Given the description of an element on the screen output the (x, y) to click on. 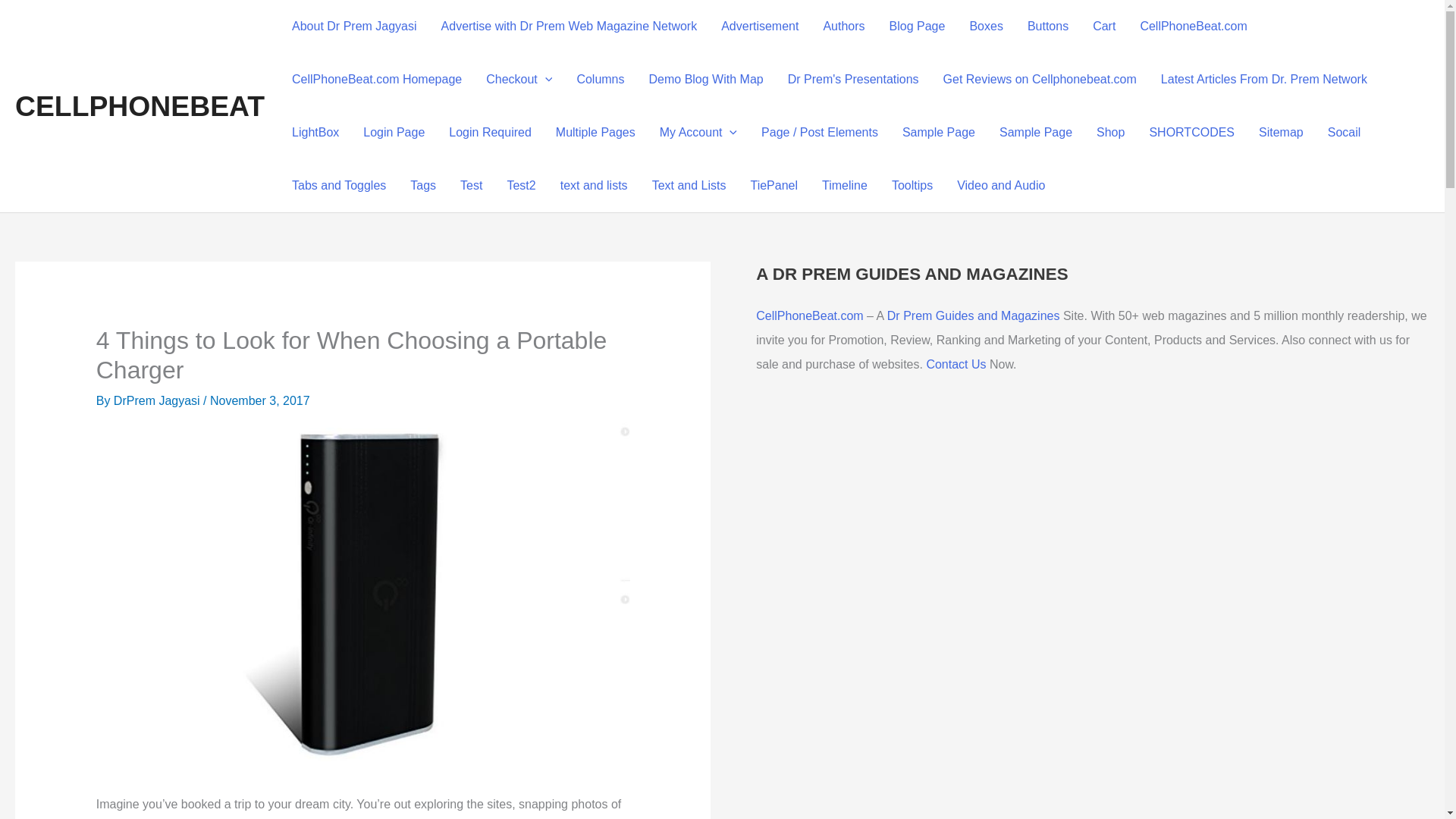
View all posts by DrPrem Jagyasi (158, 400)
Blog Page (917, 26)
About Dr Prem Jagyasi (354, 26)
Advertisement (759, 26)
Dr Prem's Presentations (853, 79)
Boxes (985, 26)
Login Required (489, 132)
CELLPHONEBEAT (139, 106)
Sample Page (938, 132)
Columns (600, 79)
Shop (1110, 132)
SHORTCODES (1191, 132)
CellPhoneBeat.com (1192, 26)
LightBox (314, 132)
Latest Articles From Dr. Prem Network (1263, 79)
